Given the description of an element on the screen output the (x, y) to click on. 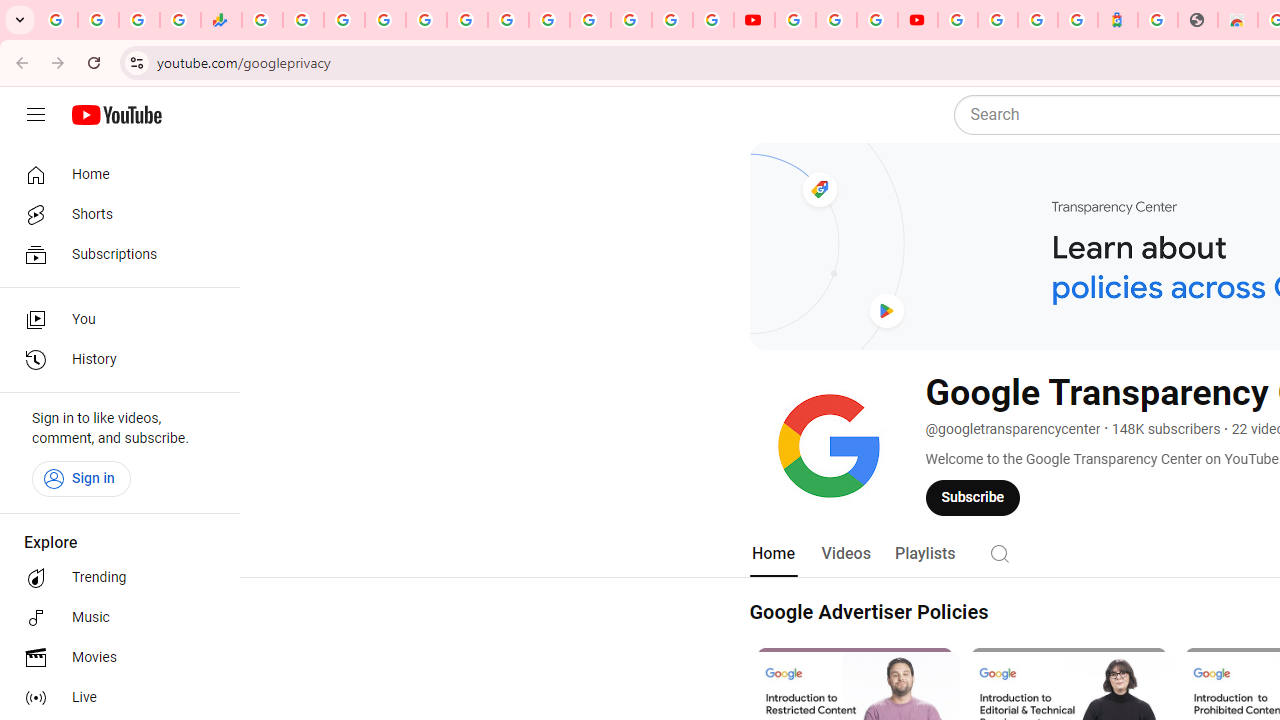
Subscriptions (113, 254)
You (113, 319)
Guide (35, 115)
Home (113, 174)
YouTube (795, 20)
YouTube (548, 20)
Android TV Policies and Guidelines - Transparency Center (507, 20)
Music (113, 617)
Chrome Web Store - Household (1238, 20)
Sign in - Google Accounts (997, 20)
